Given the description of an element on the screen output the (x, y) to click on. 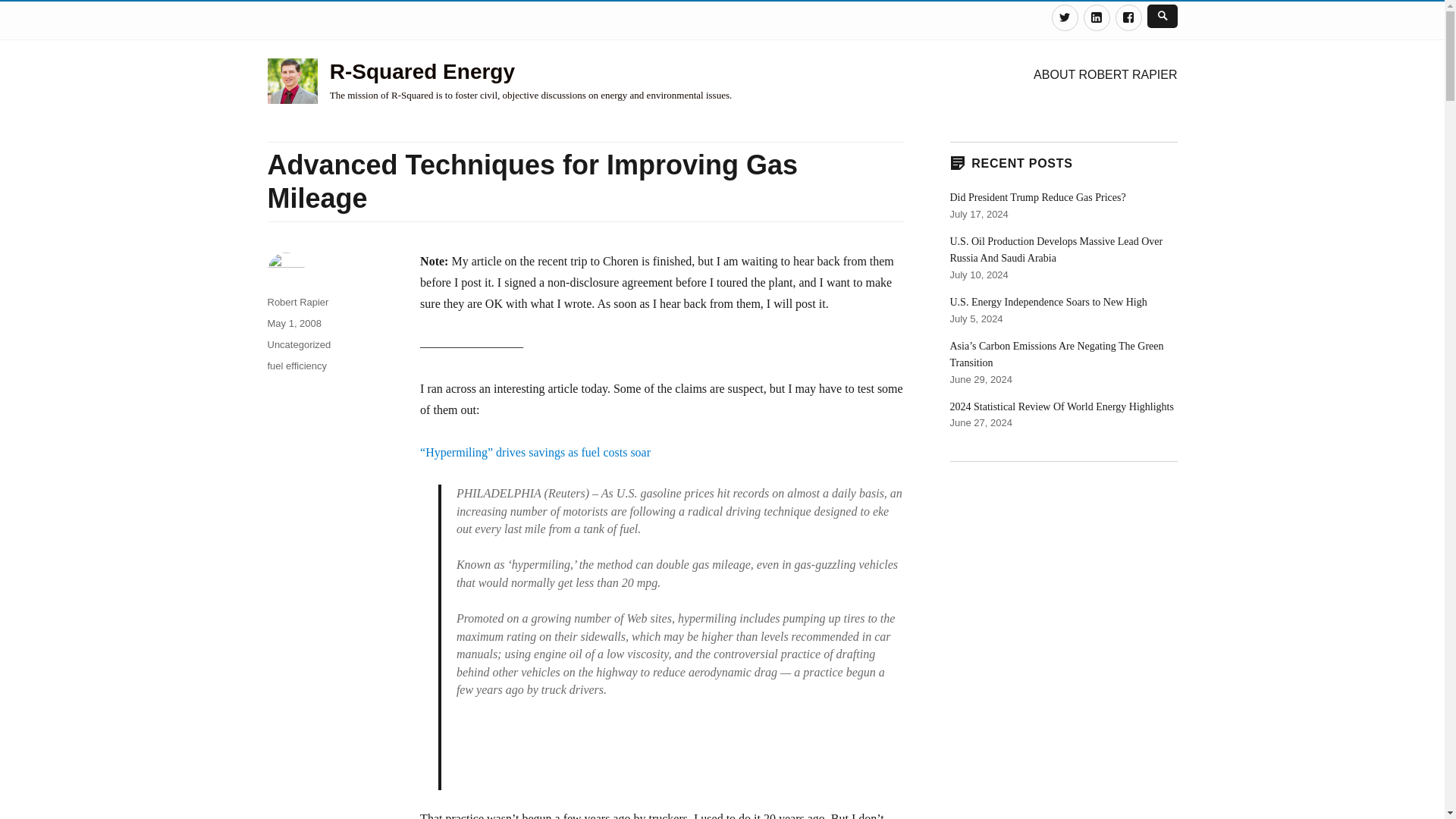
Advertisement (679, 750)
Twitter (1064, 17)
Linkedin (1096, 17)
fuel efficiency (296, 365)
May 1, 2008 (293, 323)
Robert Rapier (297, 301)
ABOUT ROBERT RAPIER (1105, 74)
Uncategorized (298, 344)
Facebook (1128, 17)
R-Squared Energy (422, 71)
